Given the description of an element on the screen output the (x, y) to click on. 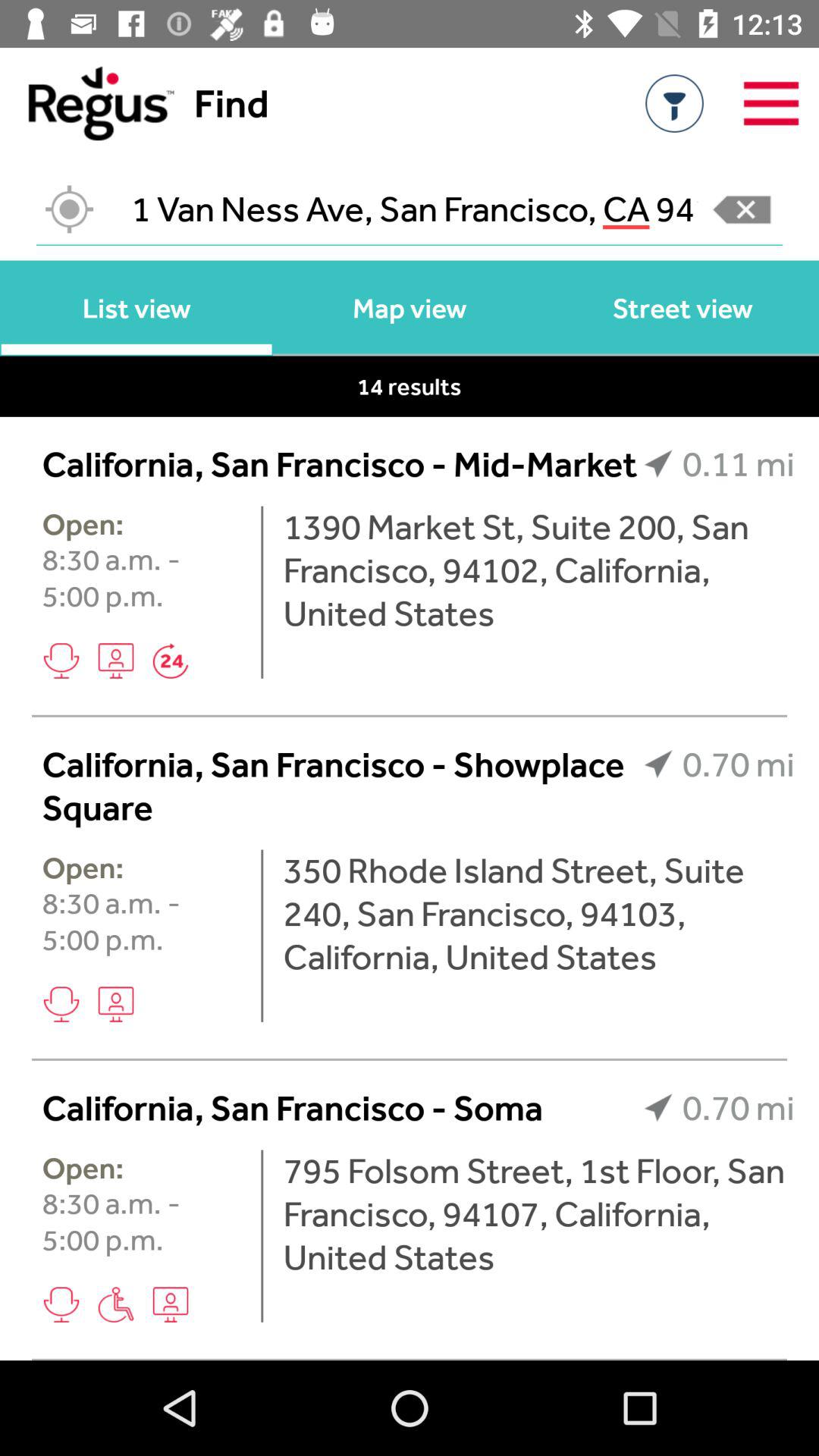
open the item next to 1390 market st icon (262, 592)
